Given the description of an element on the screen output the (x, y) to click on. 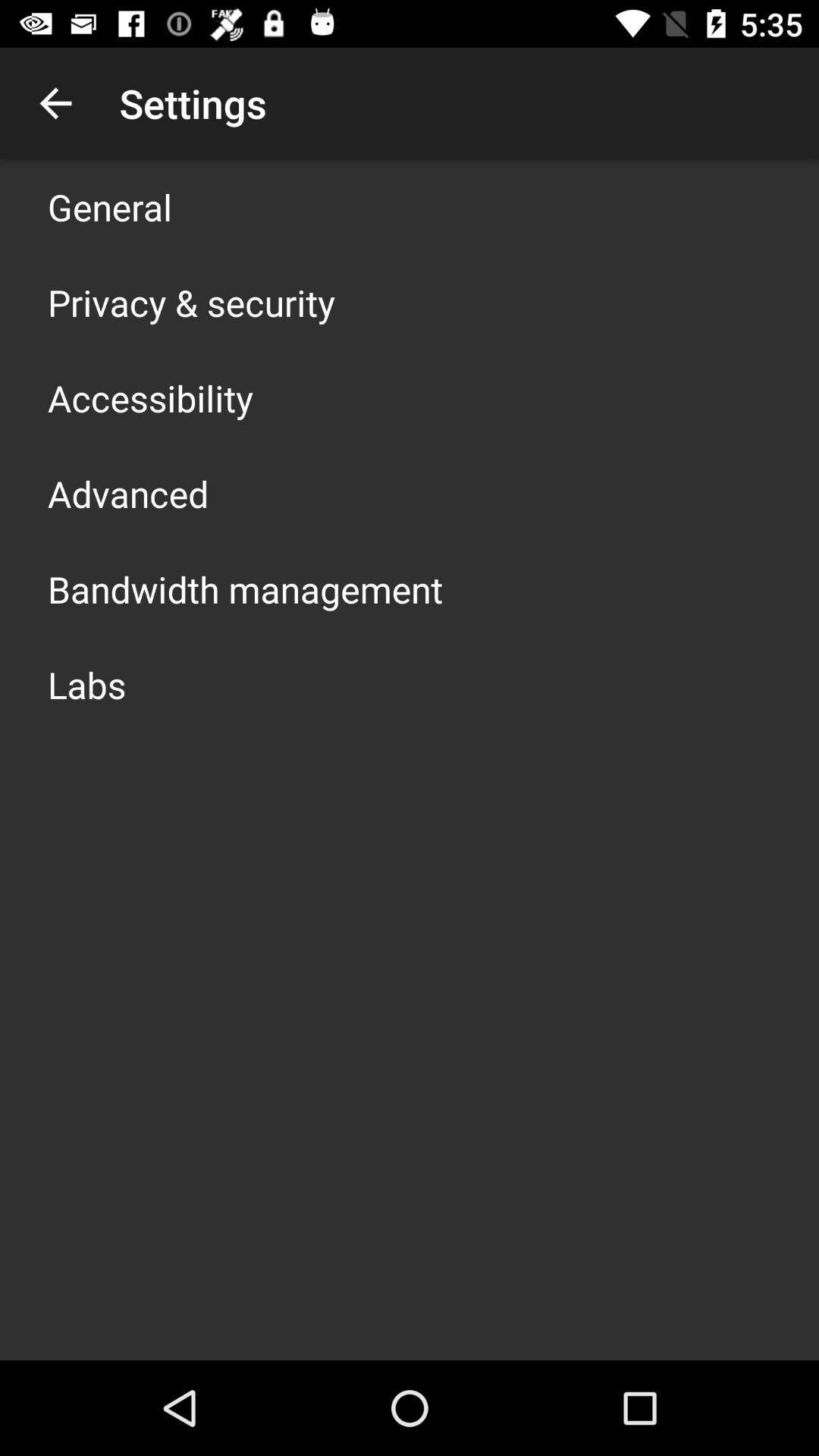
turn on the general item (109, 206)
